Given the description of an element on the screen output the (x, y) to click on. 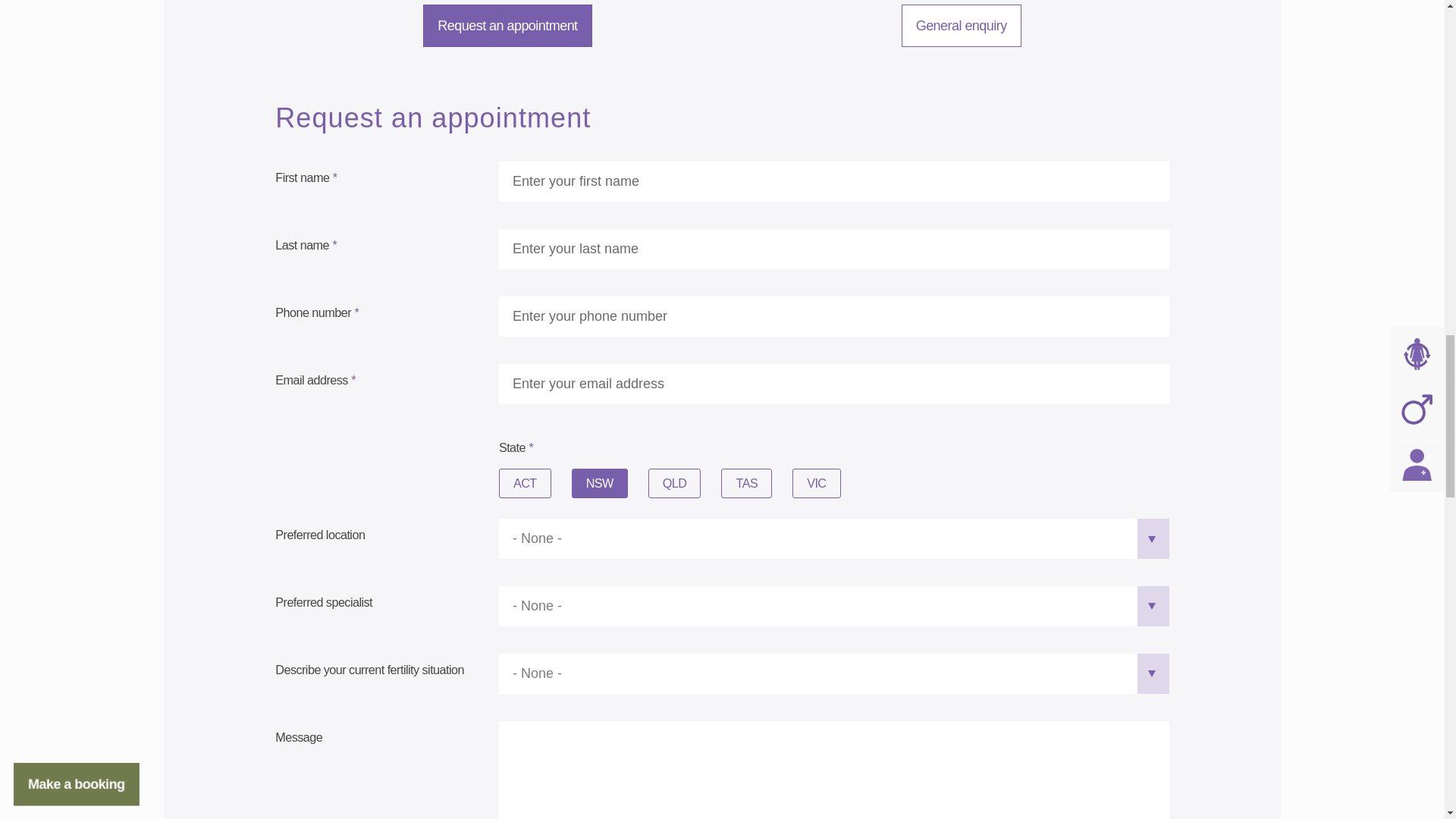
162 (510, 483)
140 (803, 483)
141 (659, 483)
139 (583, 483)
142 (732, 483)
